Given the description of an element on the screen output the (x, y) to click on. 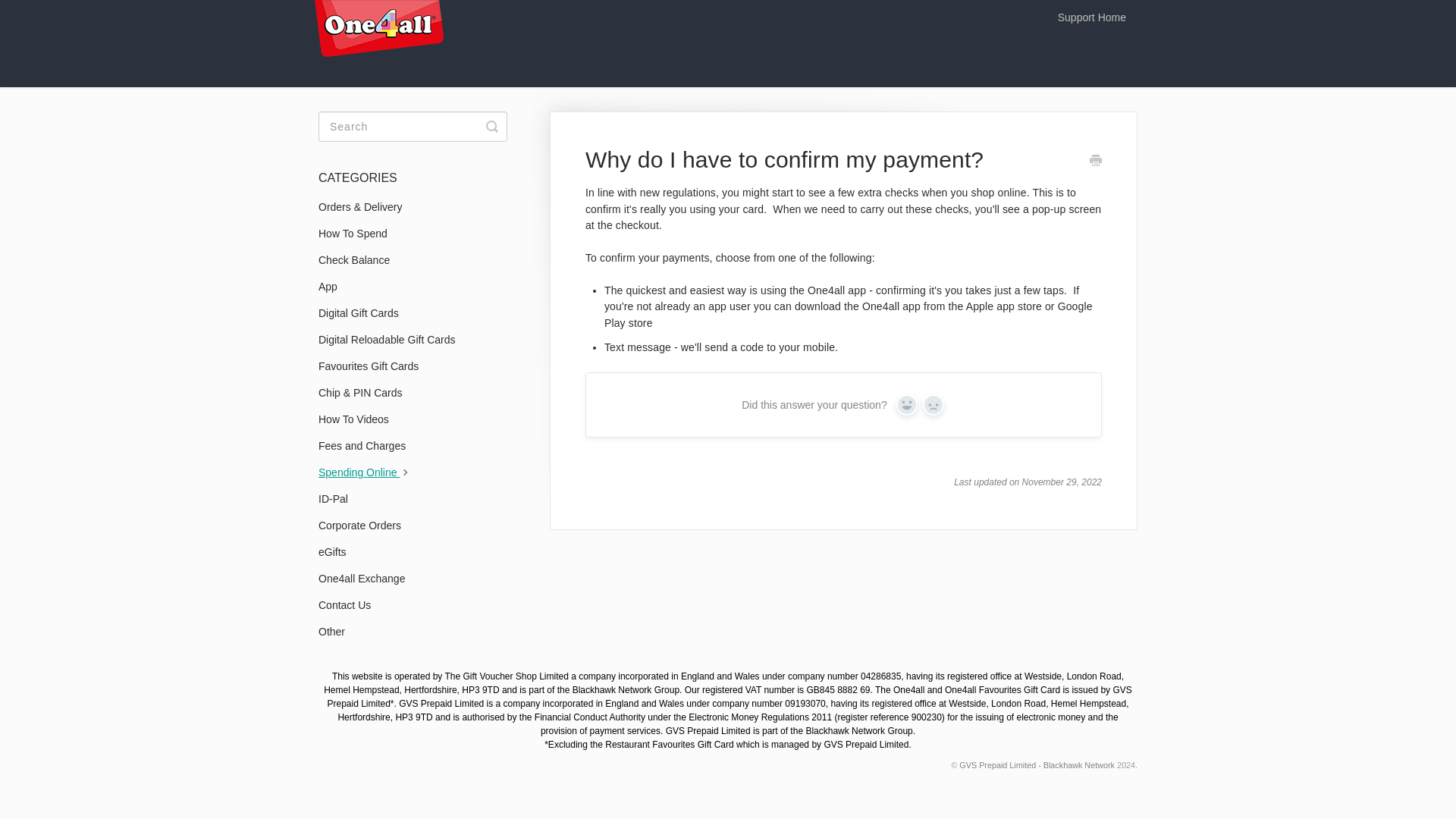
Corporate Orders (365, 525)
eGifts (338, 551)
Digital Gift Cards (364, 313)
search-query (412, 126)
How To Videos (359, 419)
How To Spend (358, 233)
No (933, 404)
Fees and Charges (367, 445)
Check Balance (359, 259)
App (333, 286)
Other (337, 631)
Yes (906, 404)
Favourites Gift Cards (373, 365)
One4all Exchange (367, 578)
Spending Online (371, 472)
